Given the description of an element on the screen output the (x, y) to click on. 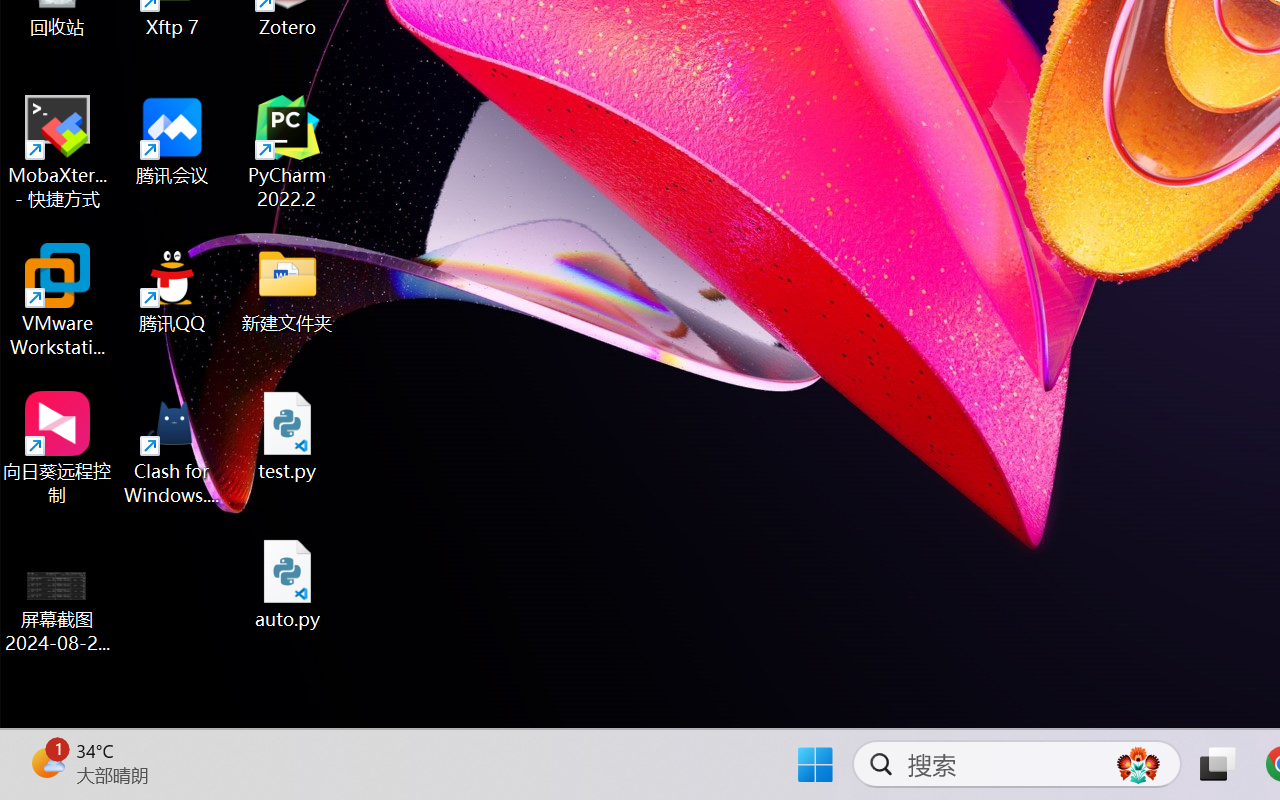
VMware Workstation Pro (57, 300)
